Given the description of an element on the screen output the (x, y) to click on. 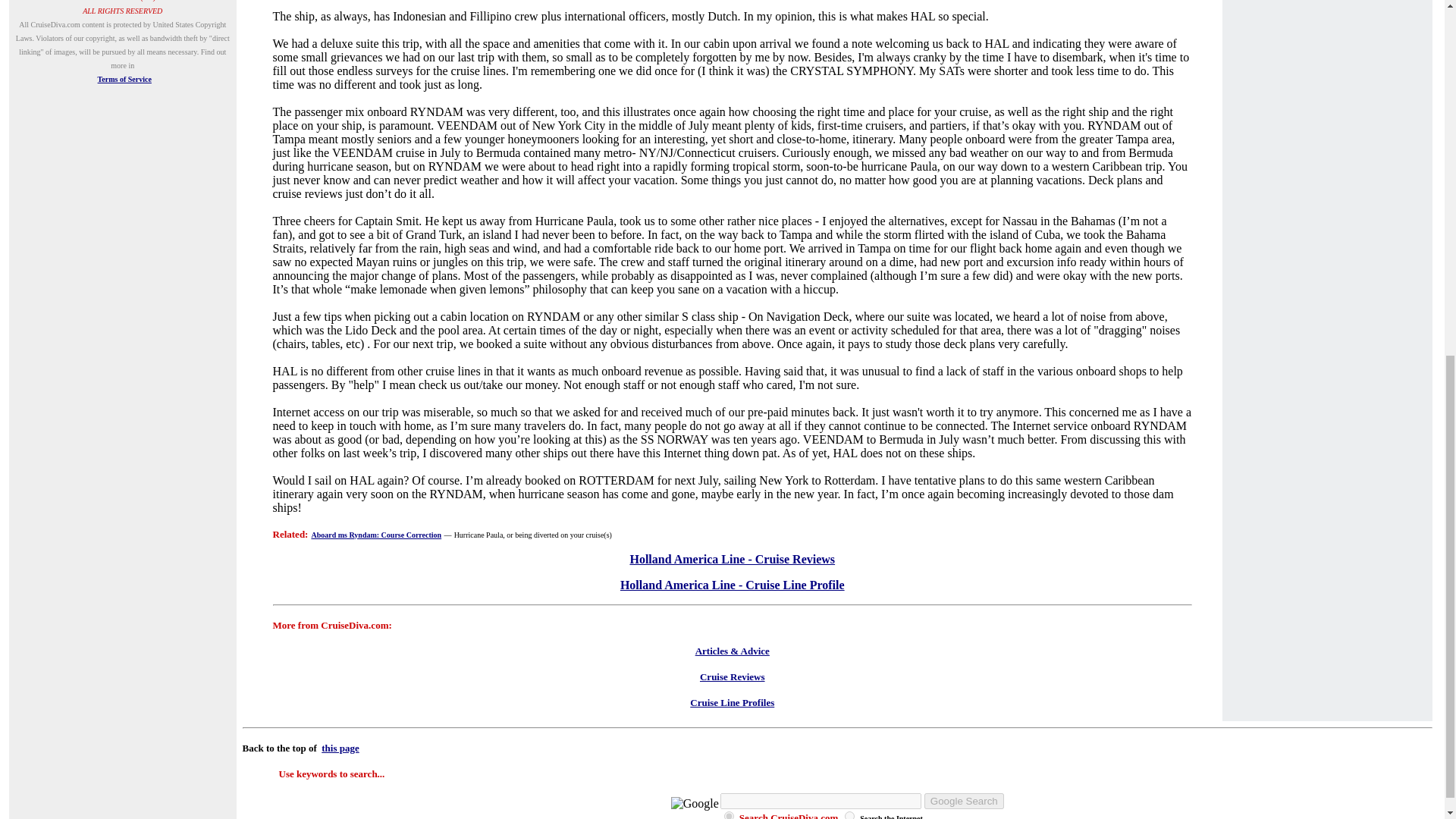
Cruise Line Profiles (732, 702)
Aboard ms Ryndam: Course Correction (376, 534)
this page (339, 747)
Holland America Line - Cruise Reviews (731, 558)
Terms of Service (124, 79)
Google Search (964, 801)
Holland America Line - Cruise Line Profile (732, 584)
Cruise Reviews (732, 676)
Google Search (964, 801)
